Given the description of an element on the screen output the (x, y) to click on. 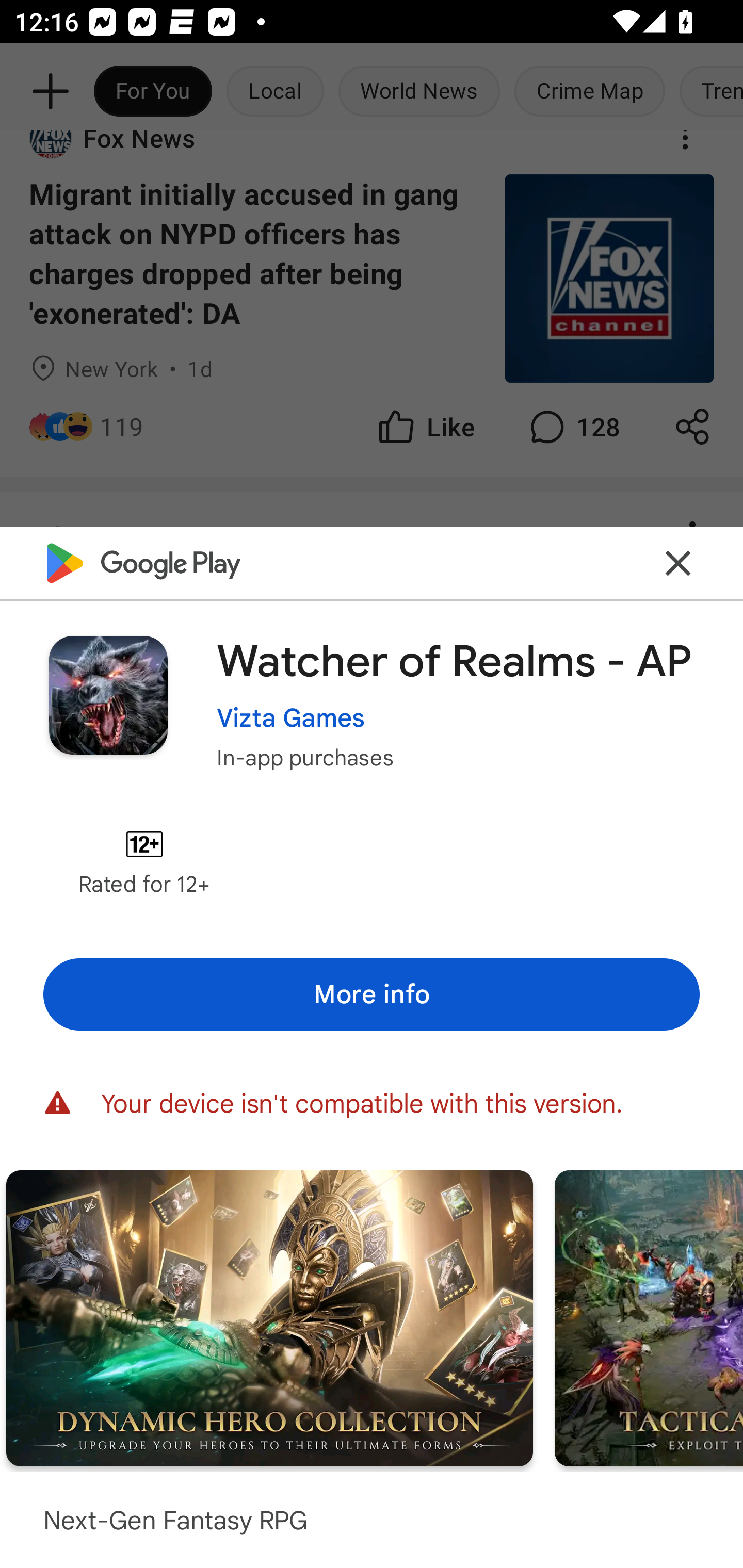
Close (677, 562)
Vizta Games (290, 716)
More info (371, 994)
Screenshot "2" of "7" (268, 1317)
Screenshot "3" of "7" (649, 1317)
